Given the description of an element on the screen output the (x, y) to click on. 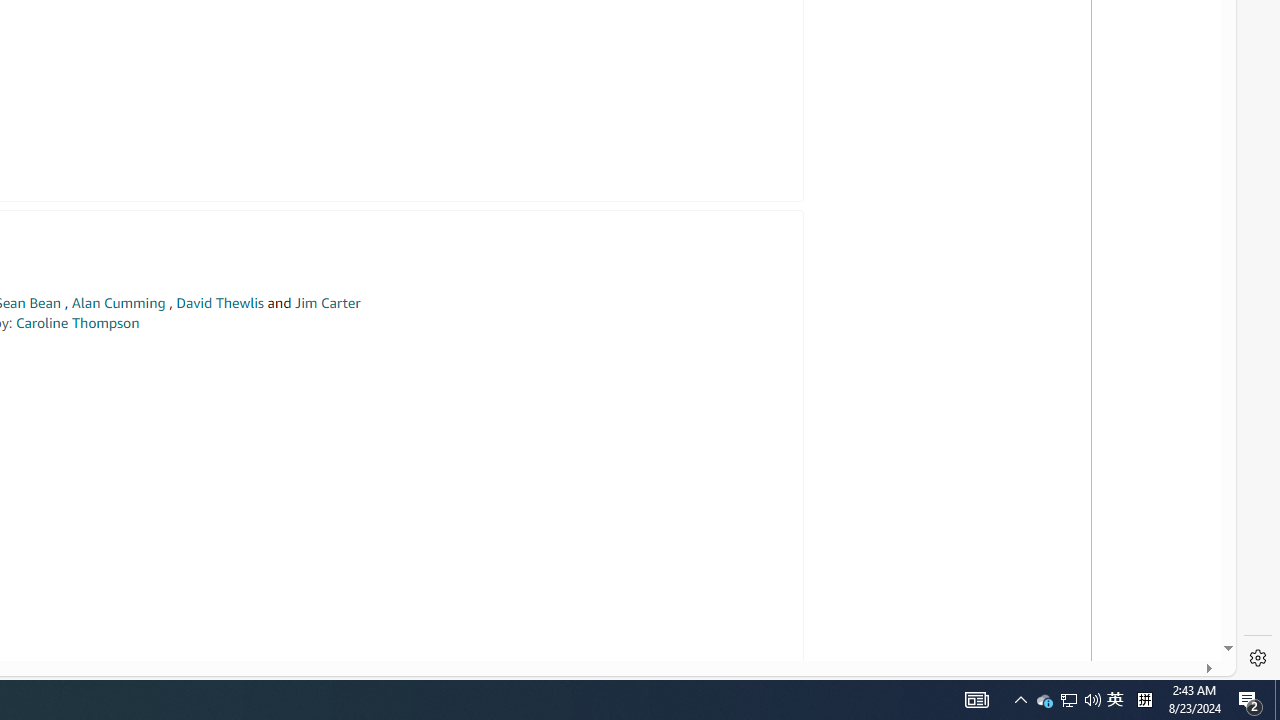
Jim Carter (327, 303)
David Thewlis (219, 303)
Alan Cumming (118, 303)
Caroline Thompson (77, 322)
